Given the description of an element on the screen output the (x, y) to click on. 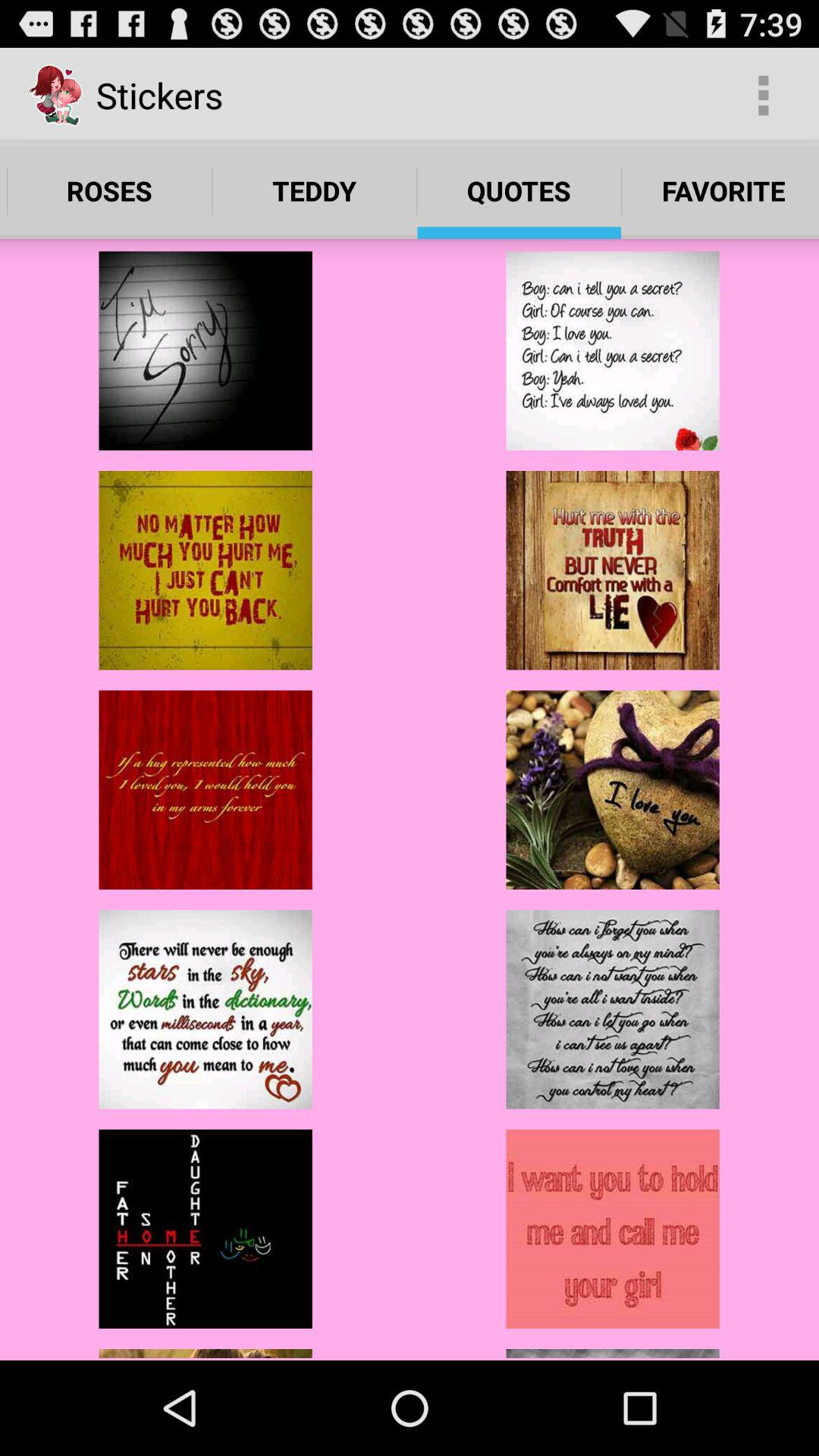
tap the item next to the stickers (763, 95)
